Given the description of an element on the screen output the (x, y) to click on. 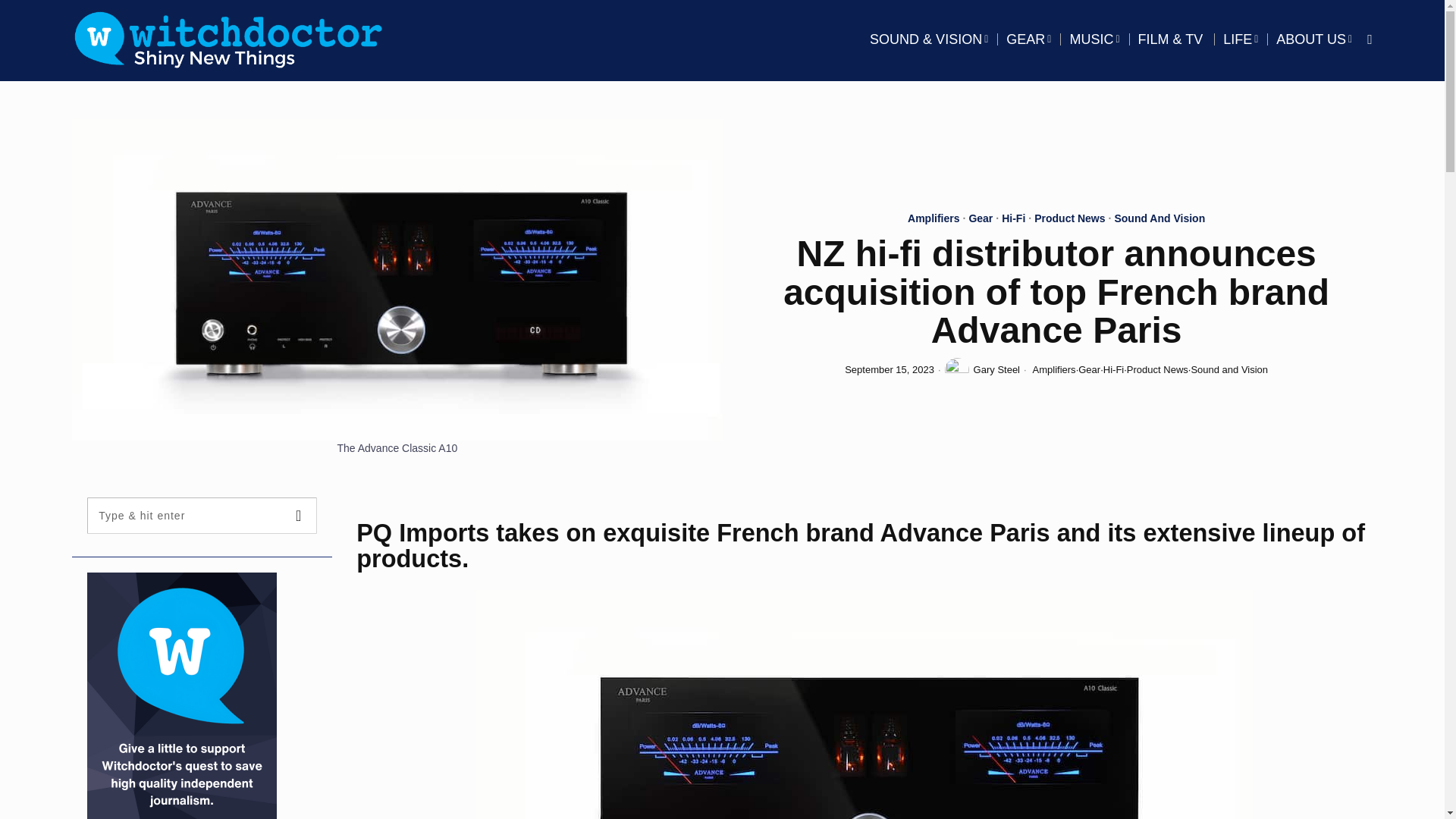
Gear (980, 219)
MUSIC (1093, 39)
GEAR (1028, 39)
ABOUT US (1313, 39)
Sound And Vision (1159, 219)
15 Sep, 2023 15:56:04 (889, 369)
Amplifiers (933, 219)
Product News (1069, 219)
Go (299, 515)
LIFE (1240, 39)
